Given the description of an element on the screen output the (x, y) to click on. 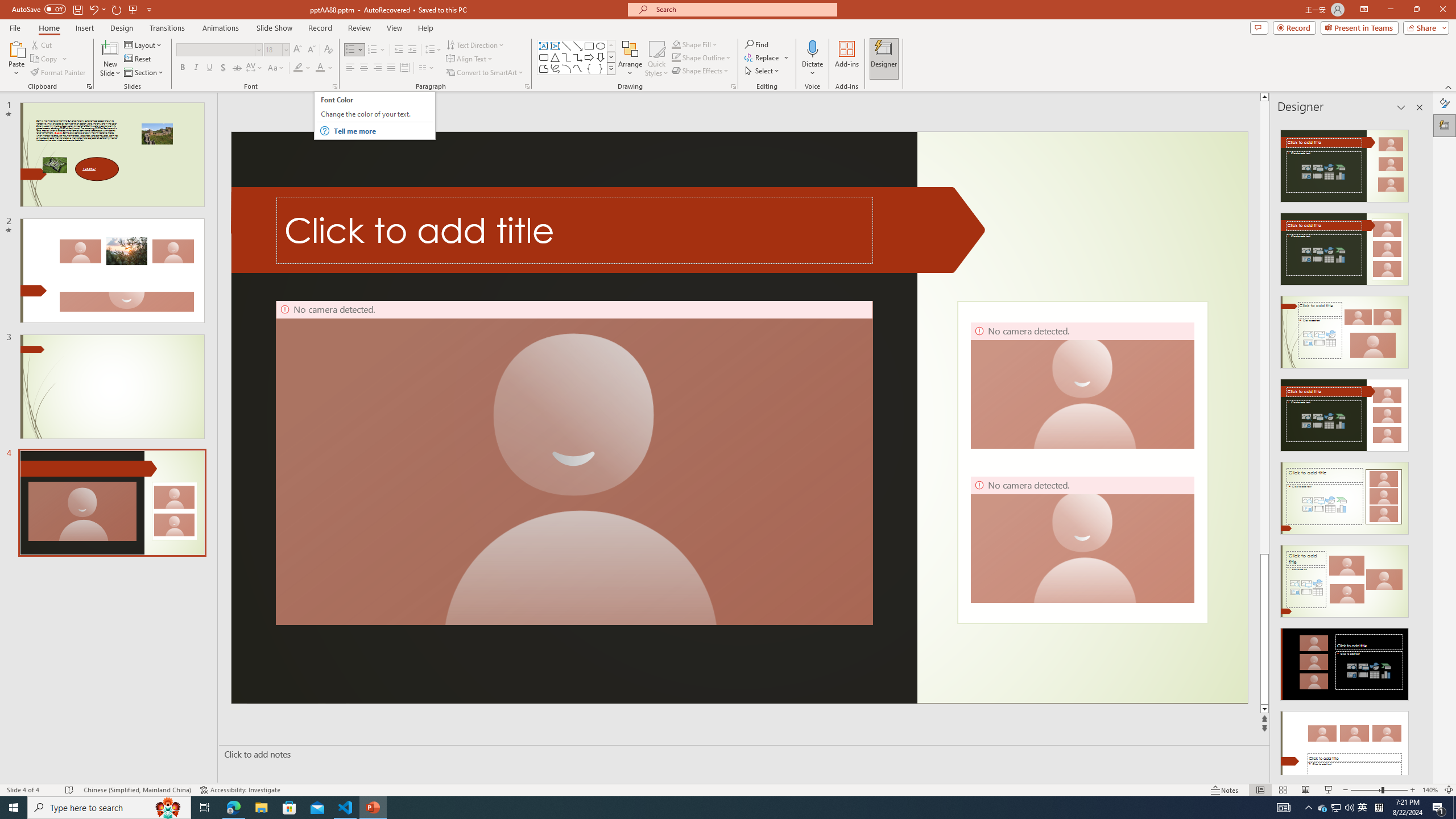
Zoom 140% (1430, 790)
